Given the description of an element on the screen output the (x, y) to click on. 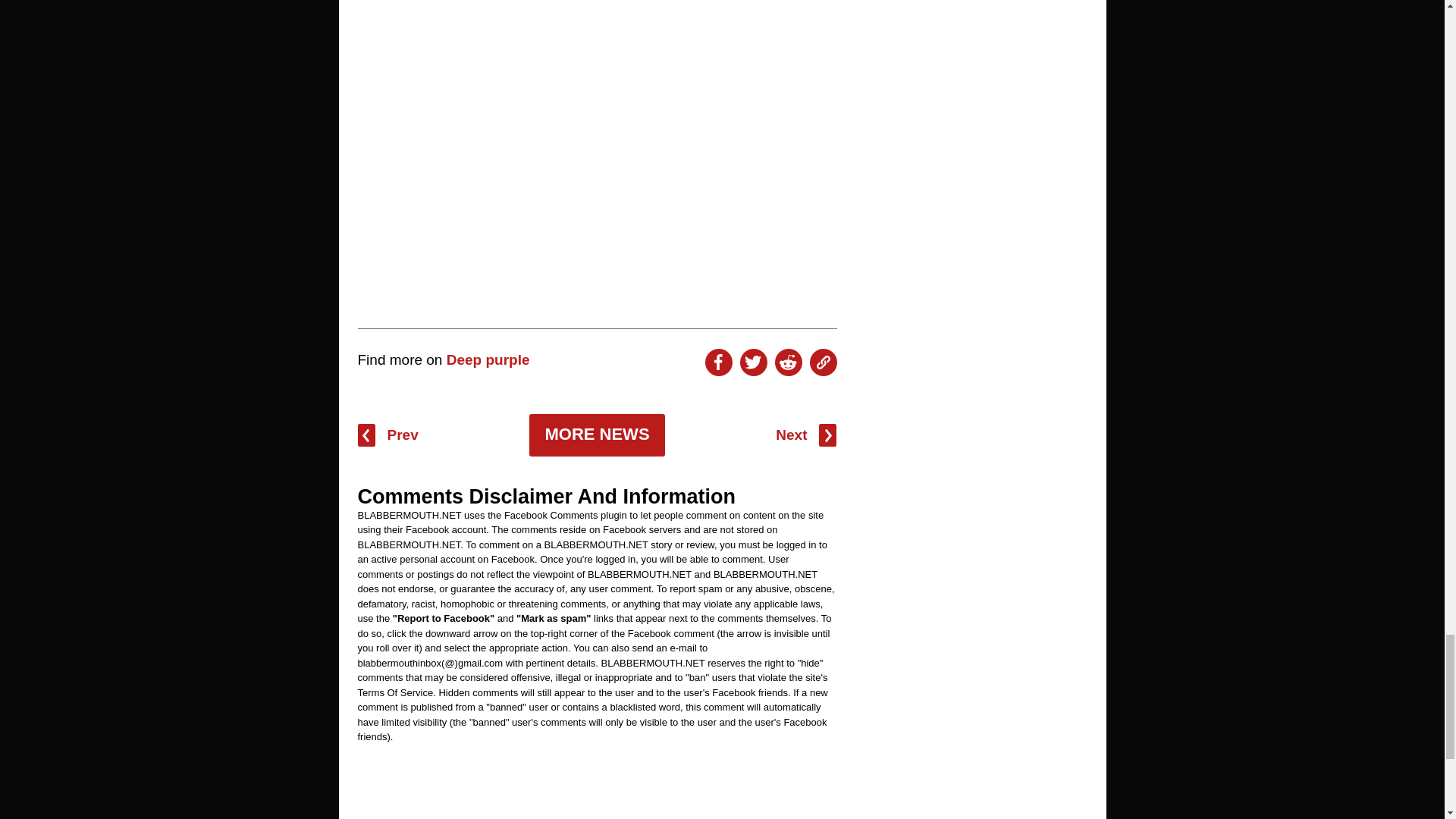
Share On Twitter (753, 361)
Copy To Clipboard (823, 361)
Share On Facebook (718, 361)
Deep purple (487, 359)
Prev (388, 435)
Share On Reddit (788, 361)
Next (805, 435)
MORE NEWS (596, 435)
